Given the description of an element on the screen output the (x, y) to click on. 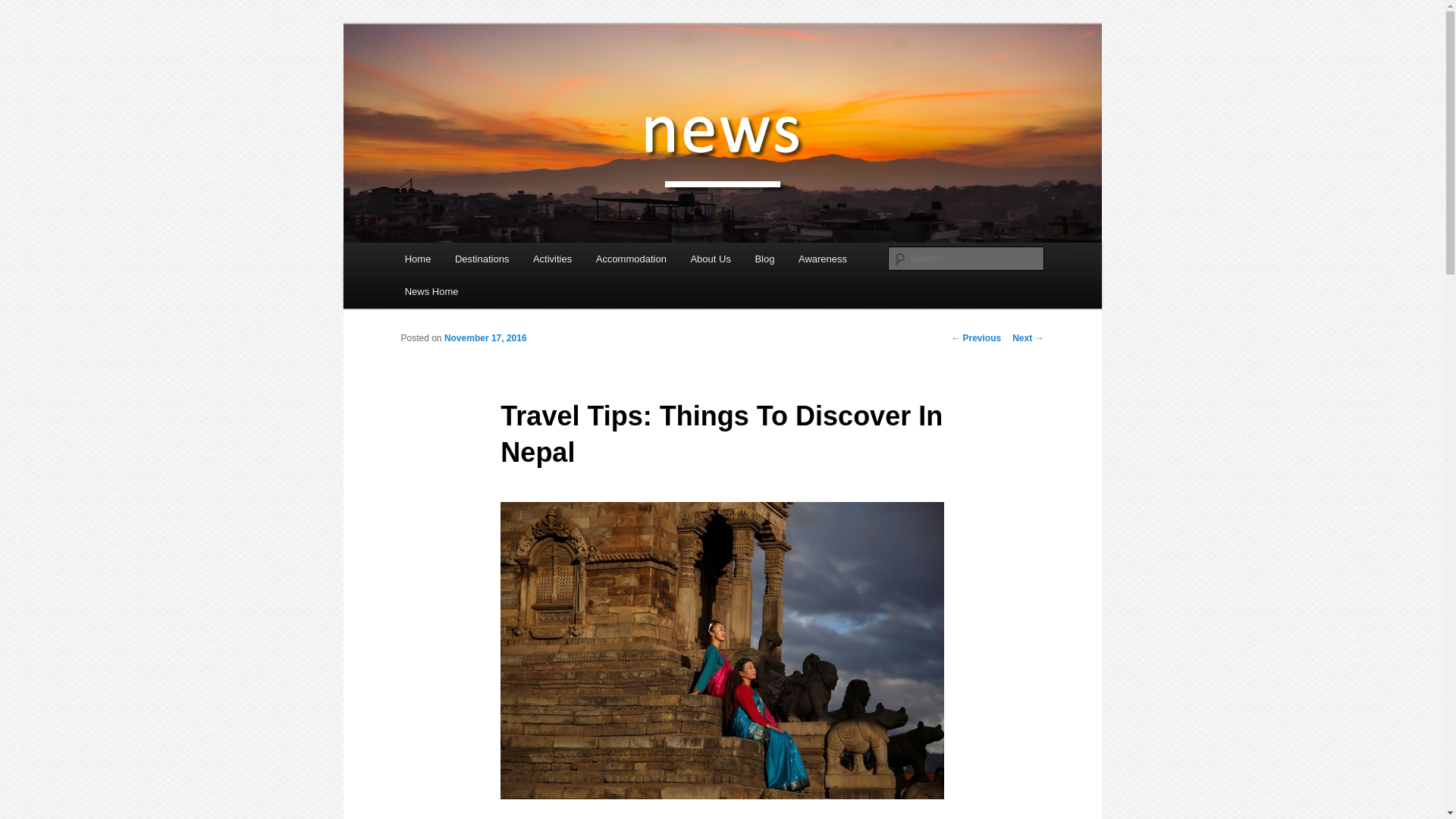
November 17, 2016 (485, 337)
Search (24, 8)
Awareness (822, 258)
News Home (431, 291)
Blog (764, 258)
Destinations (481, 258)
About Us (710, 258)
Activities (552, 258)
News (430, 78)
10:15 am (485, 337)
Accommodation (630, 258)
Home (417, 258)
